Given the description of an element on the screen output the (x, y) to click on. 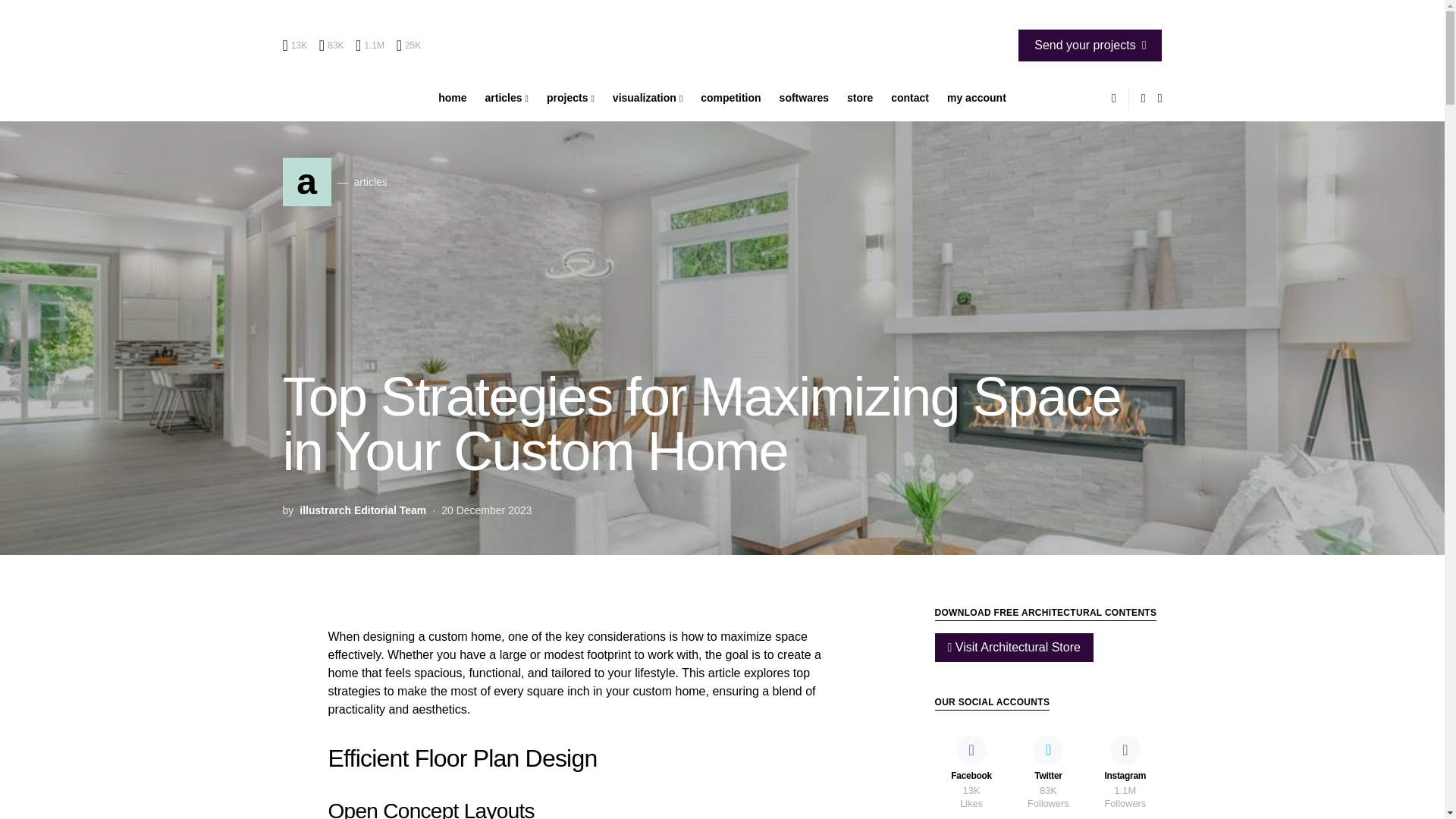
View all posts by illustrarch Editorial Team (362, 509)
